Given the description of an element on the screen output the (x, y) to click on. 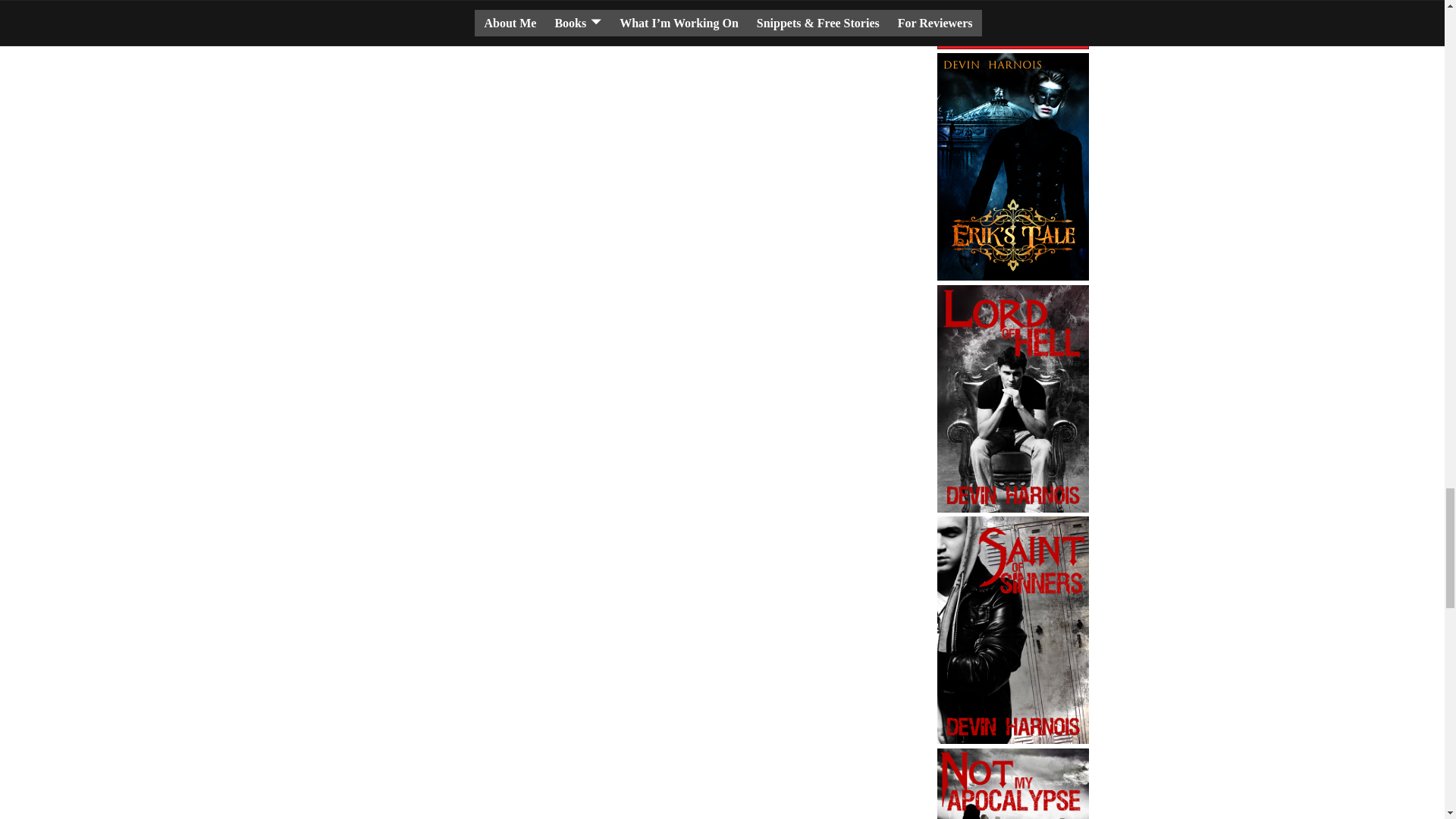
How To Make Friends And Not Incinerate People (1013, 24)
Not My Apocalypse (1013, 783)
